Given the description of an element on the screen output the (x, y) to click on. 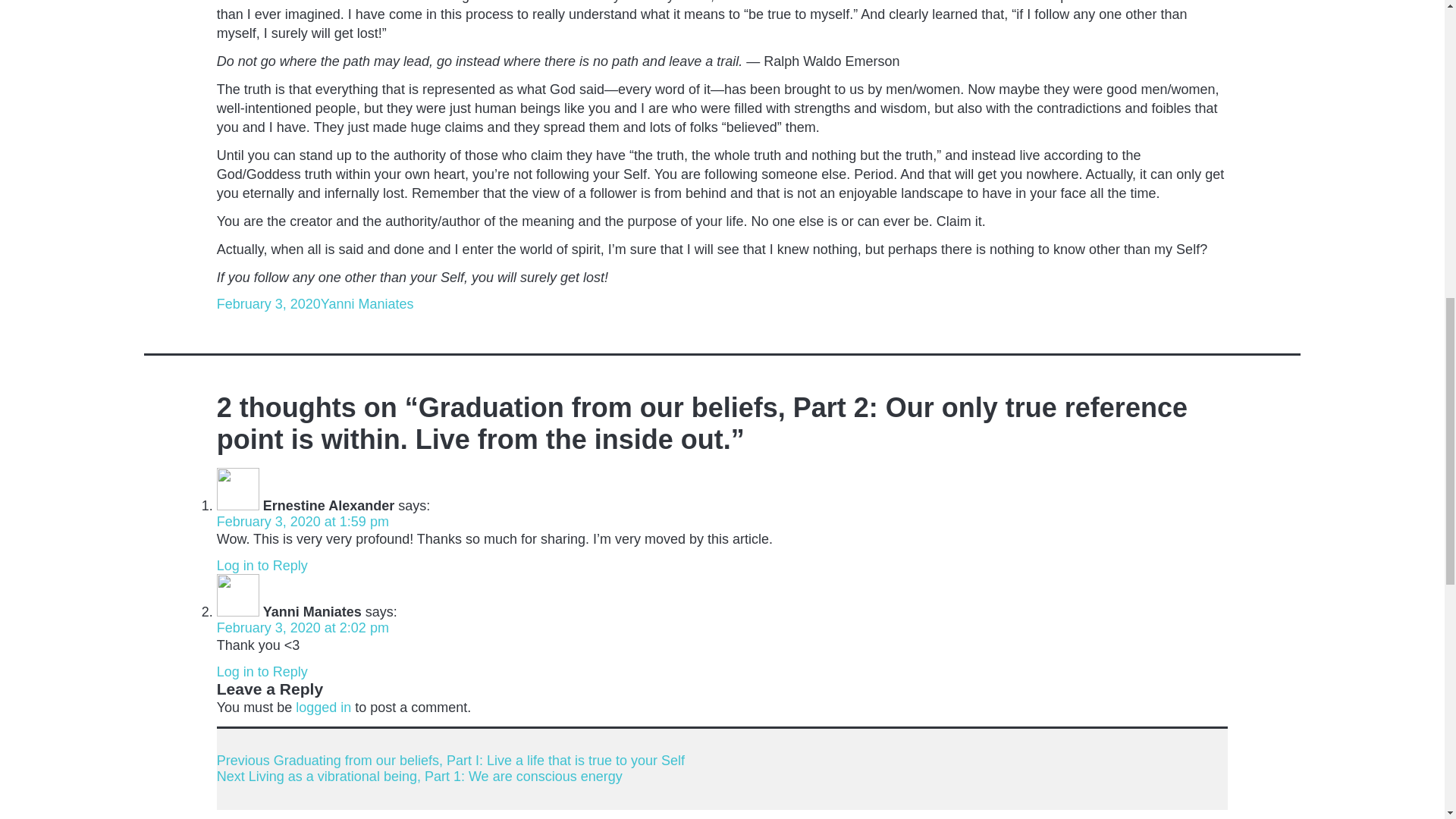
Log in to Reply (261, 671)
Log in to Reply (261, 565)
logged in (322, 707)
February 3, 2020 at 1:59 pm (302, 521)
Yanni Maniates (366, 304)
February 3, 2020 at 2:02 pm (302, 627)
February 3, 2020 (268, 304)
